Given the description of an element on the screen output the (x, y) to click on. 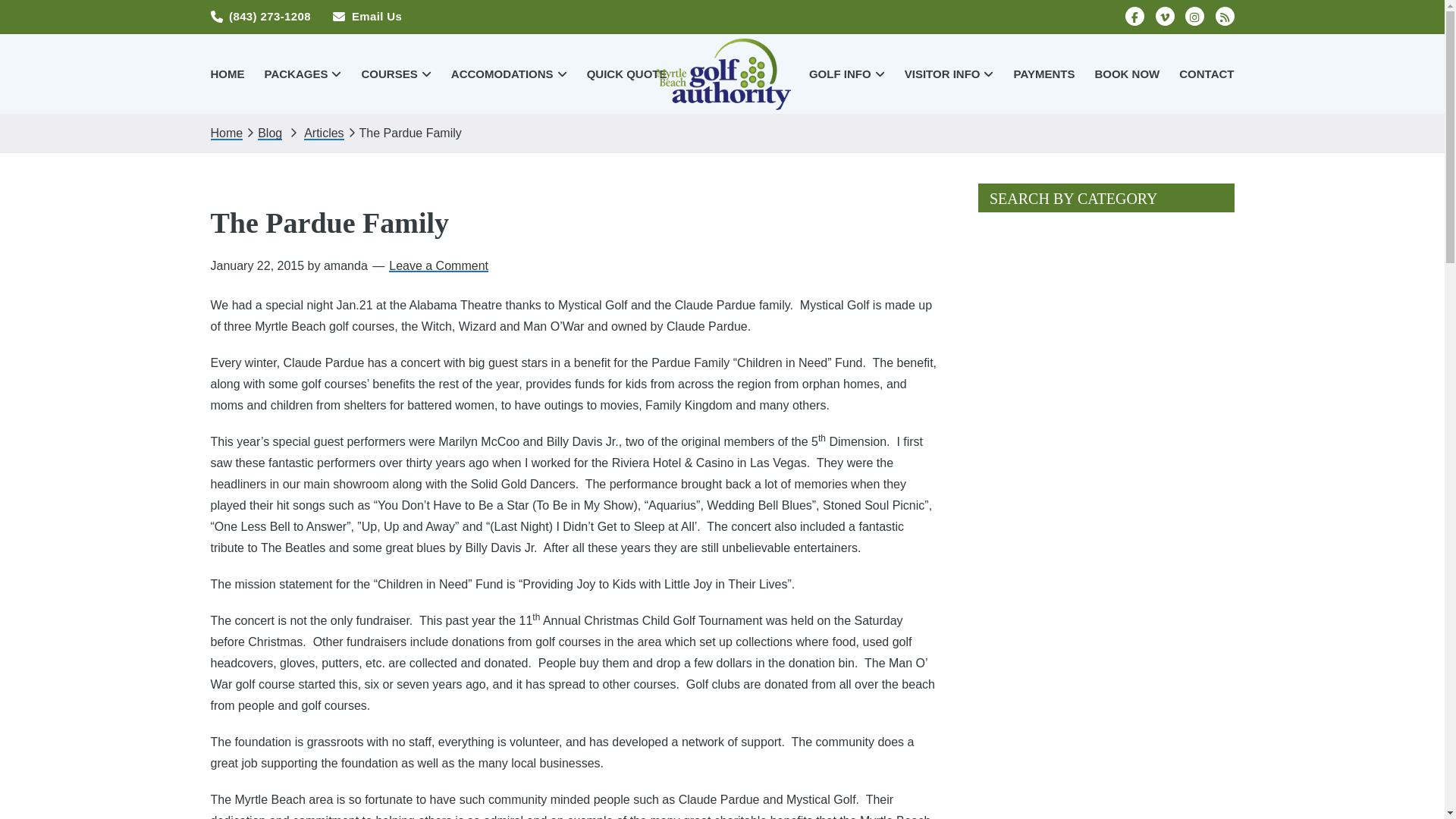
Vimeo (1165, 15)
Myrtle Beach Golf Authority (721, 73)
Email Us (367, 15)
Instagram (1194, 15)
RSS (1223, 15)
Facebook (1134, 15)
